Given the description of an element on the screen output the (x, y) to click on. 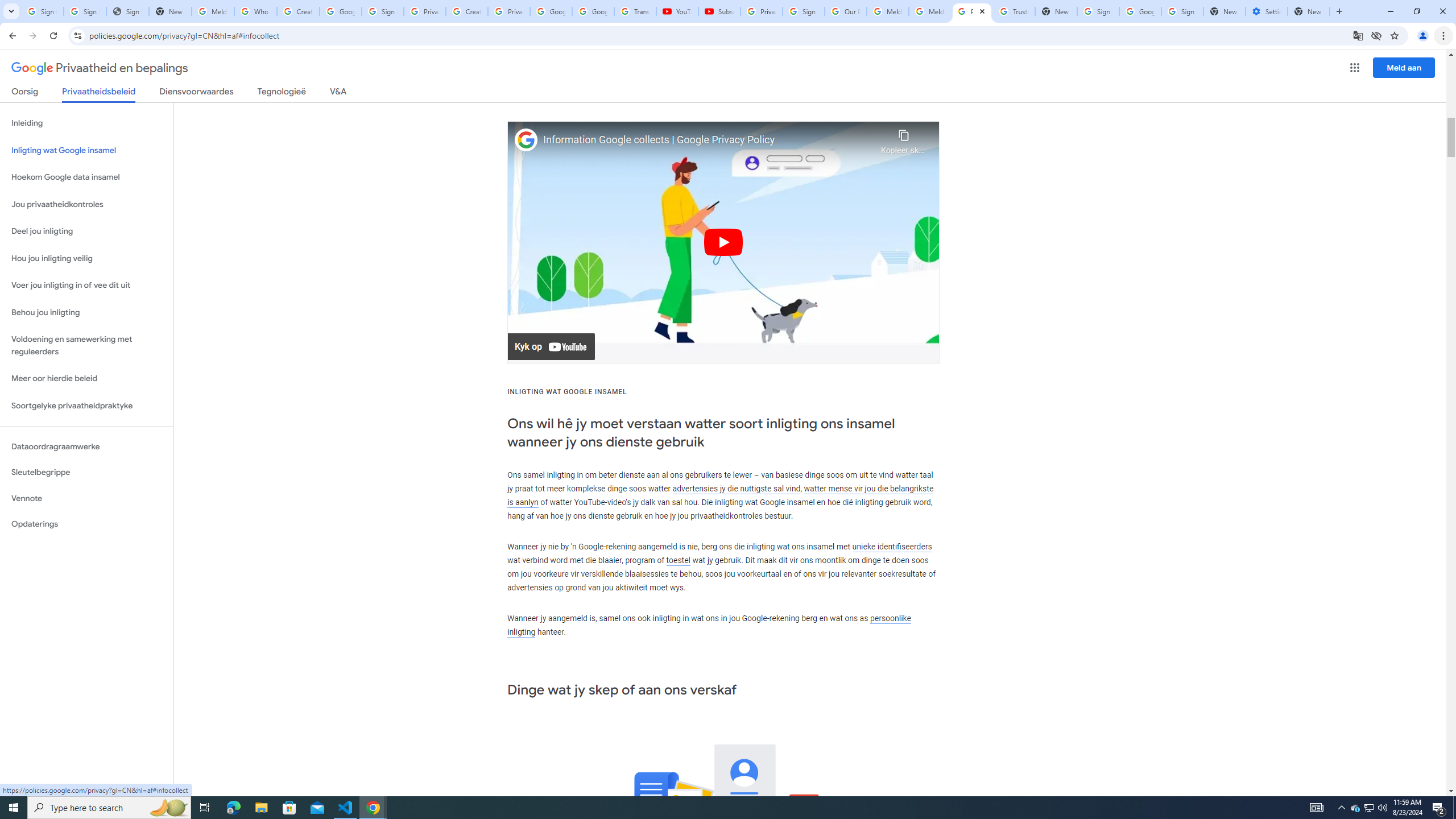
Sign in - Google Accounts (1097, 11)
Sign in - Google Accounts (85, 11)
Sign in - Google Accounts (803, 11)
Google Account (592, 11)
Google Cybersecurity Innovations - Google Safety Center (1139, 11)
New Tab (1308, 11)
Oorsig (25, 93)
Who is my administrator? - Google Account Help (255, 11)
Trusted Information and Content - Google Safety Center (1013, 11)
Kyk op YouTube (551, 346)
